Given the description of an element on the screen output the (x, y) to click on. 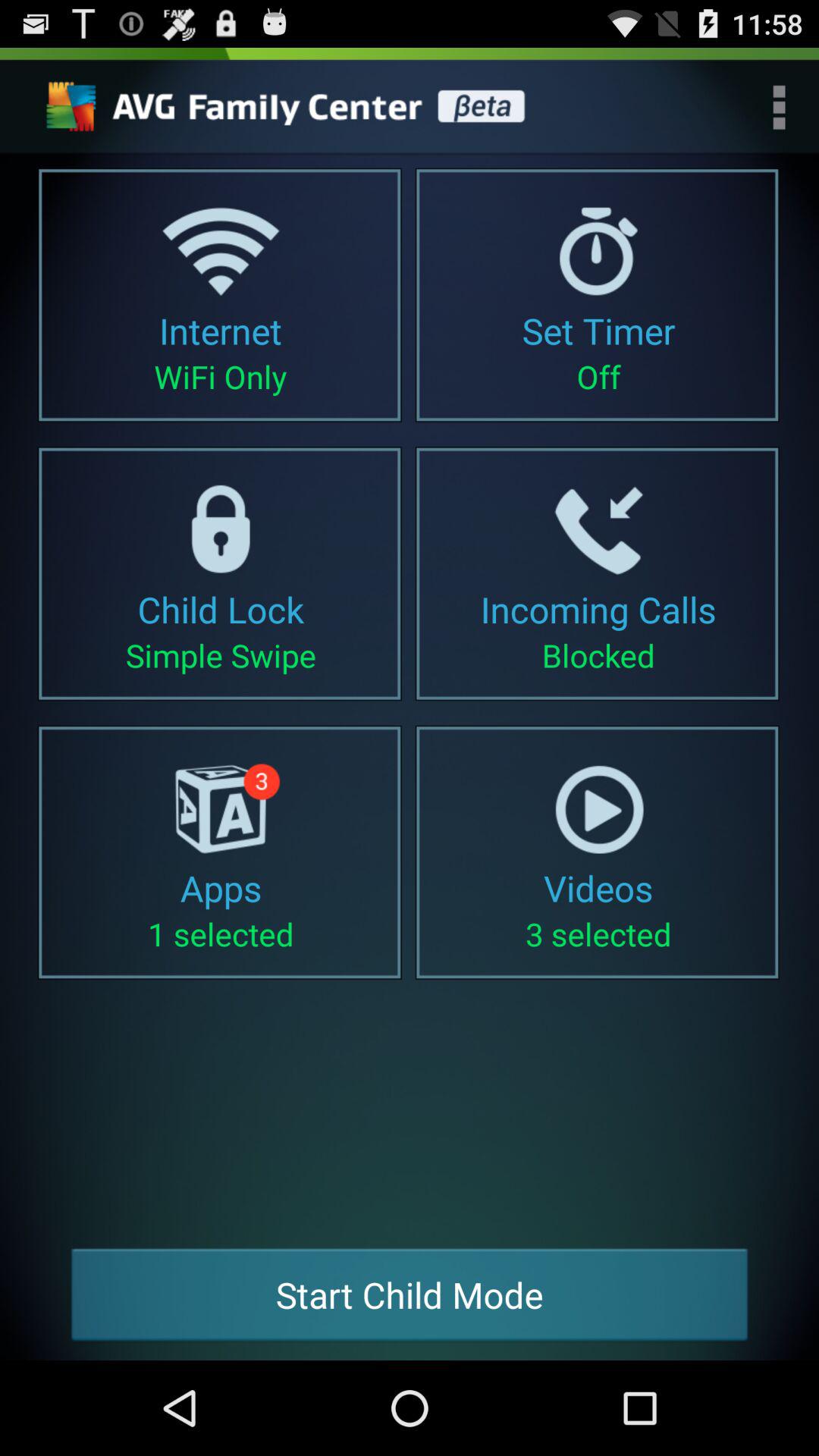
settings (289, 107)
